Given the description of an element on the screen output the (x, y) to click on. 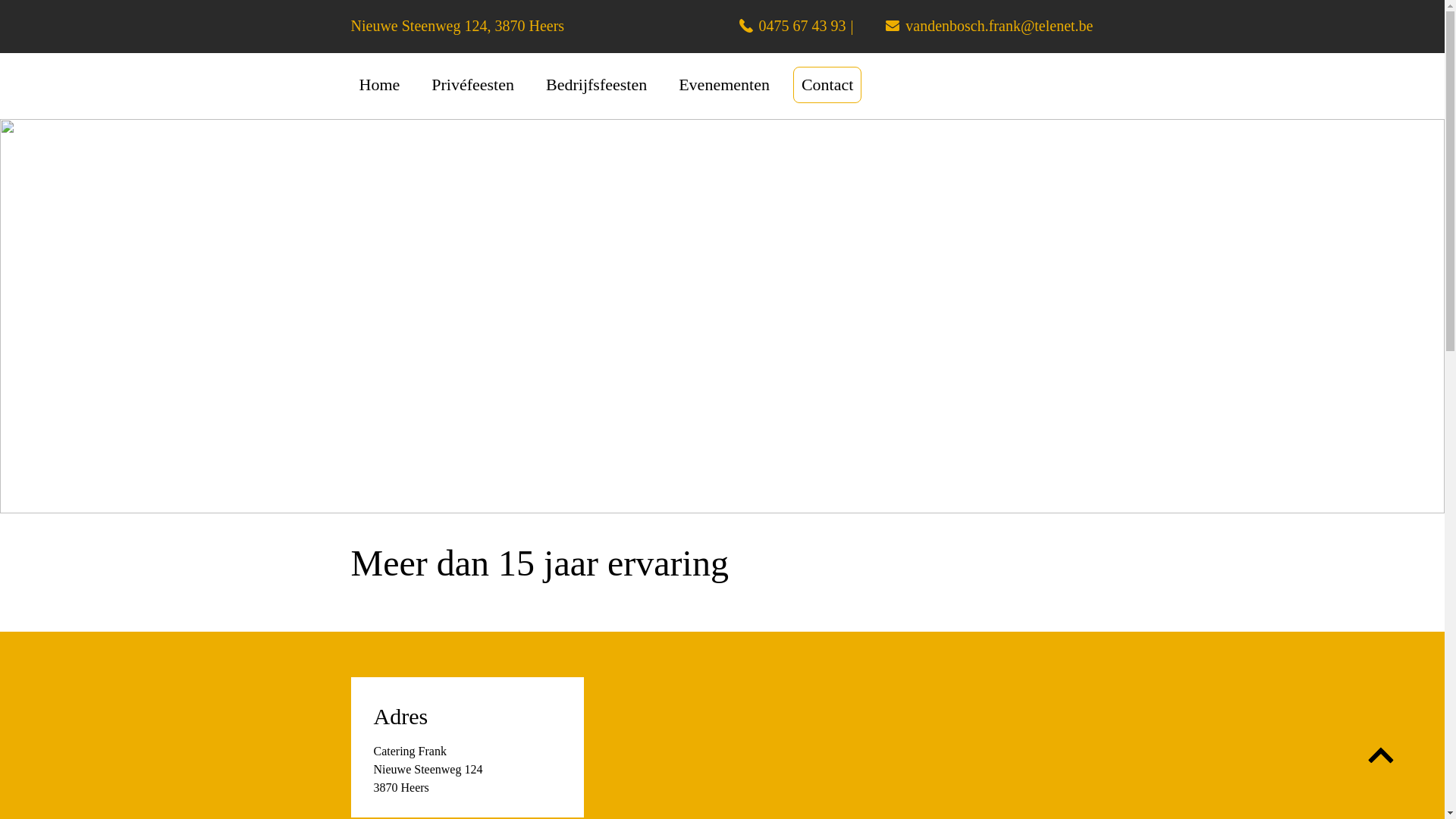
0475 67 43 93 Element type: text (777, 25)
Bedrijfsfeesten Element type: text (596, 84)
Contact Element type: text (827, 84)
vandenbosch.frank@telenet.be Element type: text (976, 25)
Home Element type: text (378, 84)
Evenementen Element type: text (724, 84)
